Given the description of an element on the screen output the (x, y) to click on. 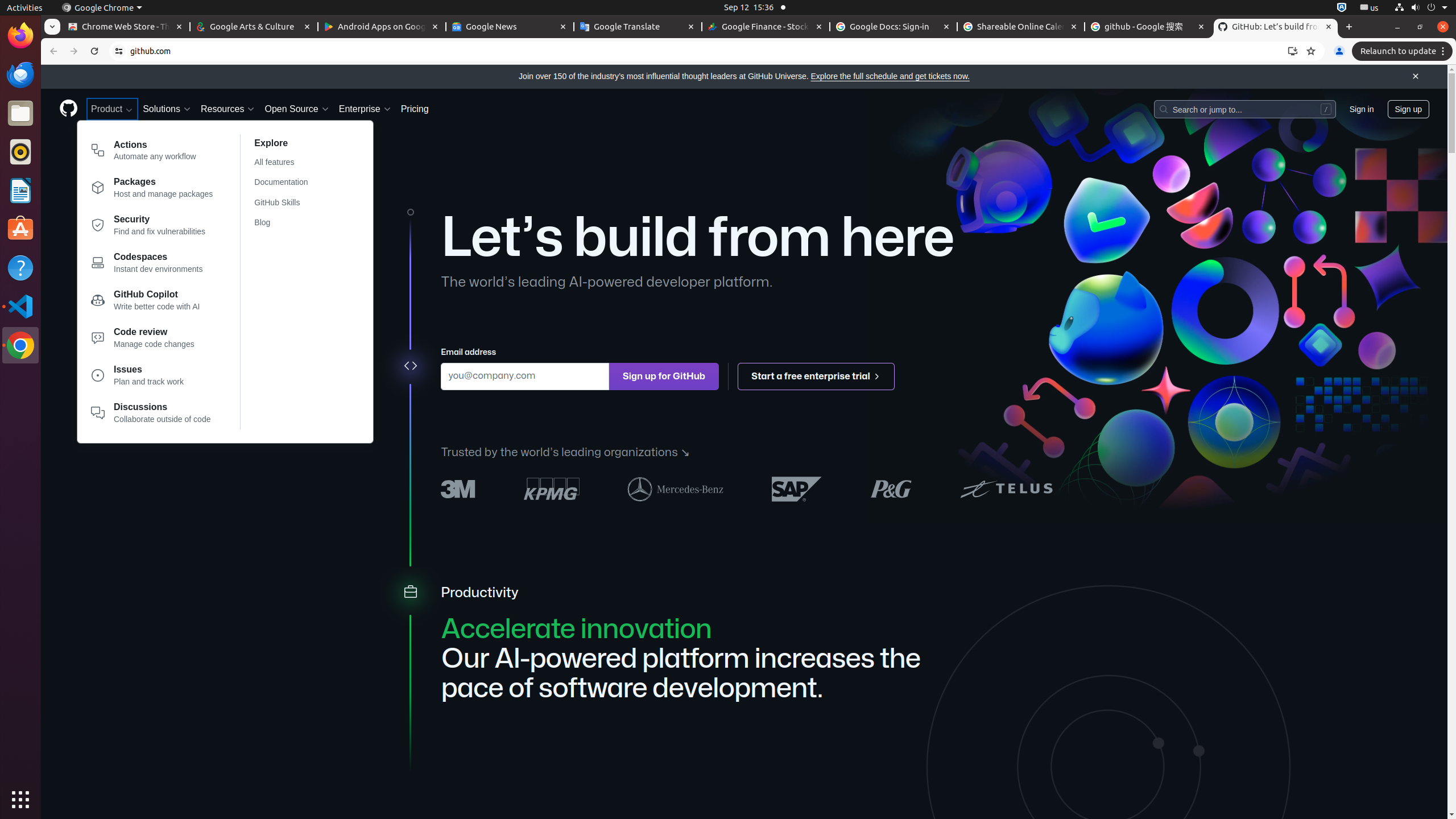
Issues Plan and track work Element type: link (152, 377)
Thunderbird Mail Element type: push-button (20, 74)
GitHub Copilot Write better code with AI Element type: link (152, 302)
Skip to content Element type: link (40, 64)
Close Element type: push-button (1415, 76)
